Given the description of an element on the screen output the (x, y) to click on. 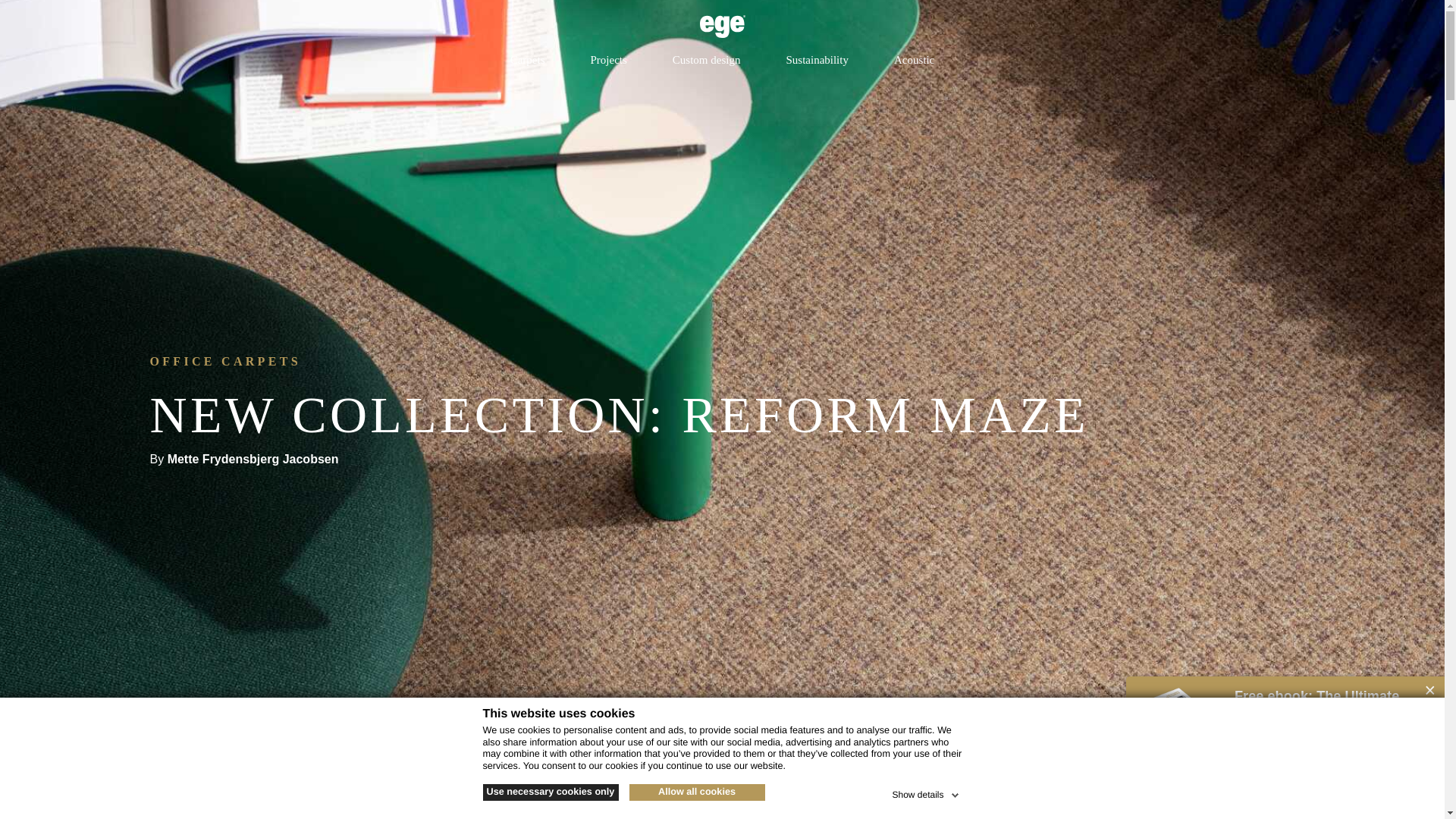
Use necessary cookies only (549, 791)
Allow all cookies (696, 791)
Show details (925, 791)
